Given the description of an element on the screen output the (x, y) to click on. 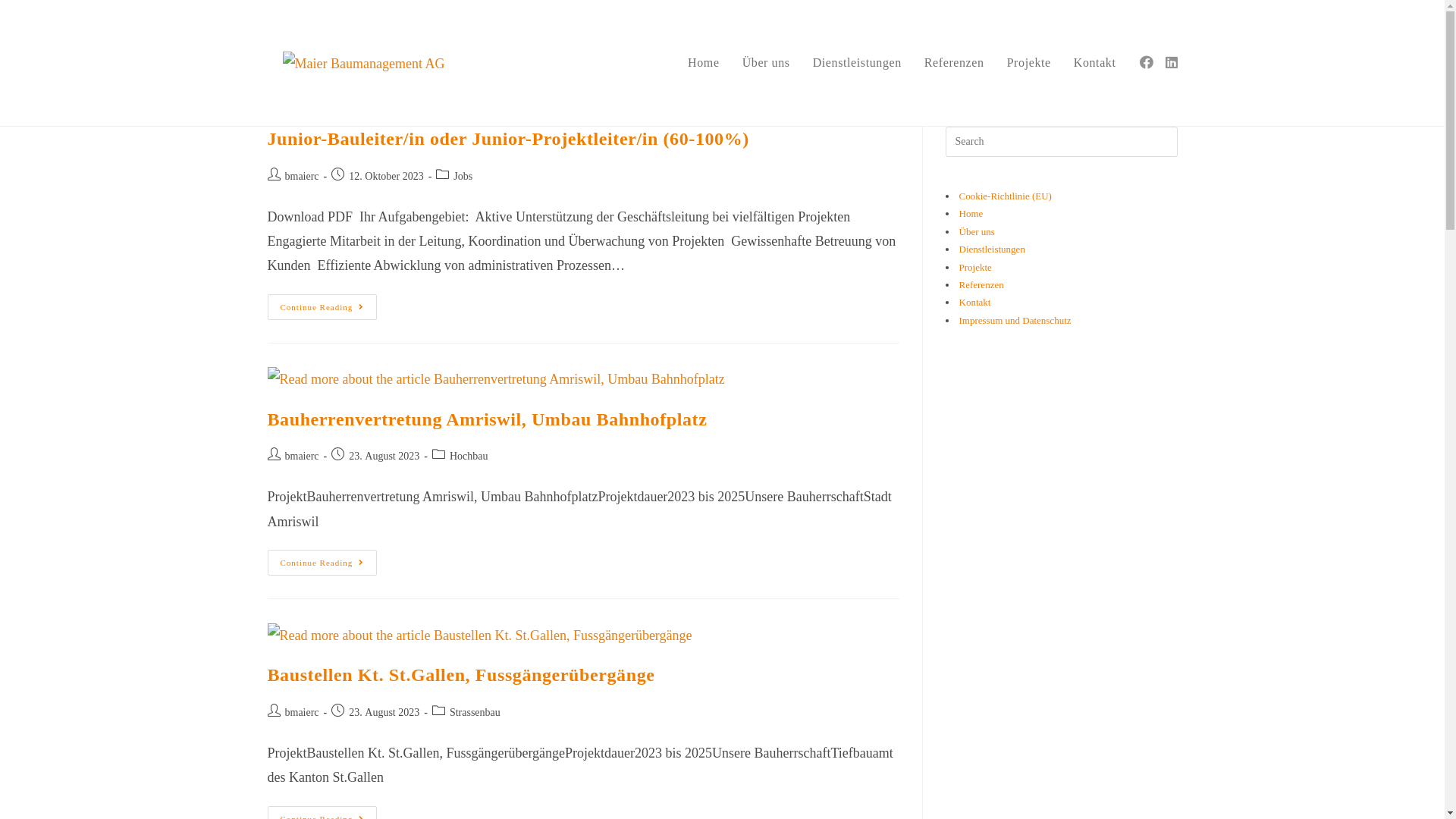
Projekte Element type: text (974, 267)
Kontakt Element type: text (974, 301)
Junior-Bauleiter/in oder Junior-Projektleiter/in (60-100%) Element type: text (507, 138)
Dienstleistungen Element type: text (857, 62)
Hochbau Element type: text (468, 455)
Bauherrenvertretung Amriswil, Umbau Bahnhofplatz Element type: text (486, 419)
Impressum und Datenschutz Element type: text (1014, 320)
Projekte Element type: text (1028, 62)
Referenzen Element type: text (980, 284)
Home Element type: text (703, 62)
Kontakt Element type: text (1094, 62)
Home Element type: text (970, 213)
Jobs Element type: text (462, 176)
bmaierc Element type: text (302, 712)
Referenzen Element type: text (954, 62)
Cookie-Richtlinie (EU) Element type: text (1004, 195)
bmaierc Element type: text (302, 455)
Strassenbau Element type: text (474, 712)
Continue Reading Element type: text (321, 562)
Continue Reading Element type: text (321, 307)
bmaierc Element type: text (302, 176)
Dienstleistungen Element type: text (991, 248)
